Given the description of an element on the screen output the (x, y) to click on. 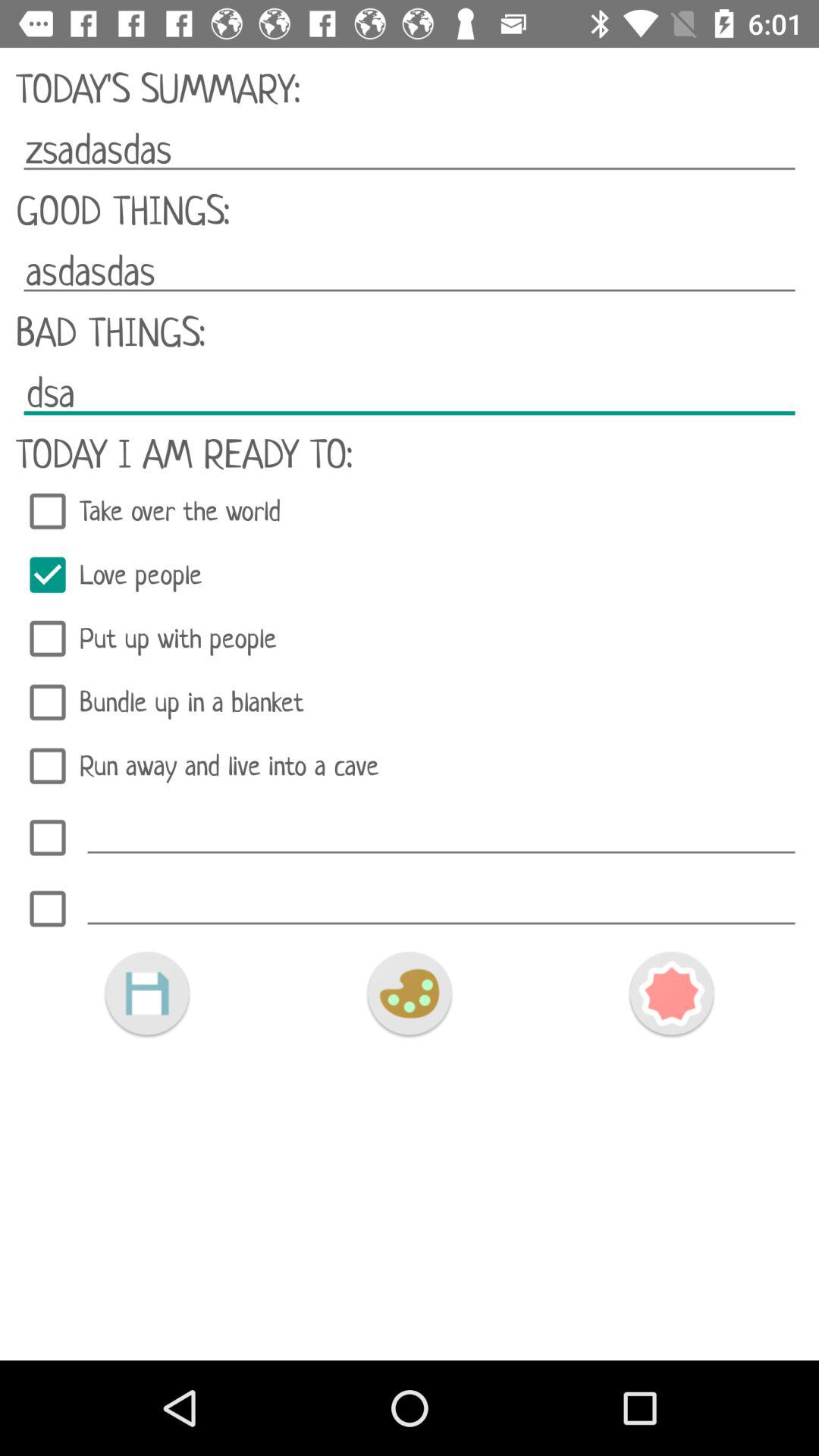
check box for optional field (47, 837)
